Given the description of an element on the screen output the (x, y) to click on. 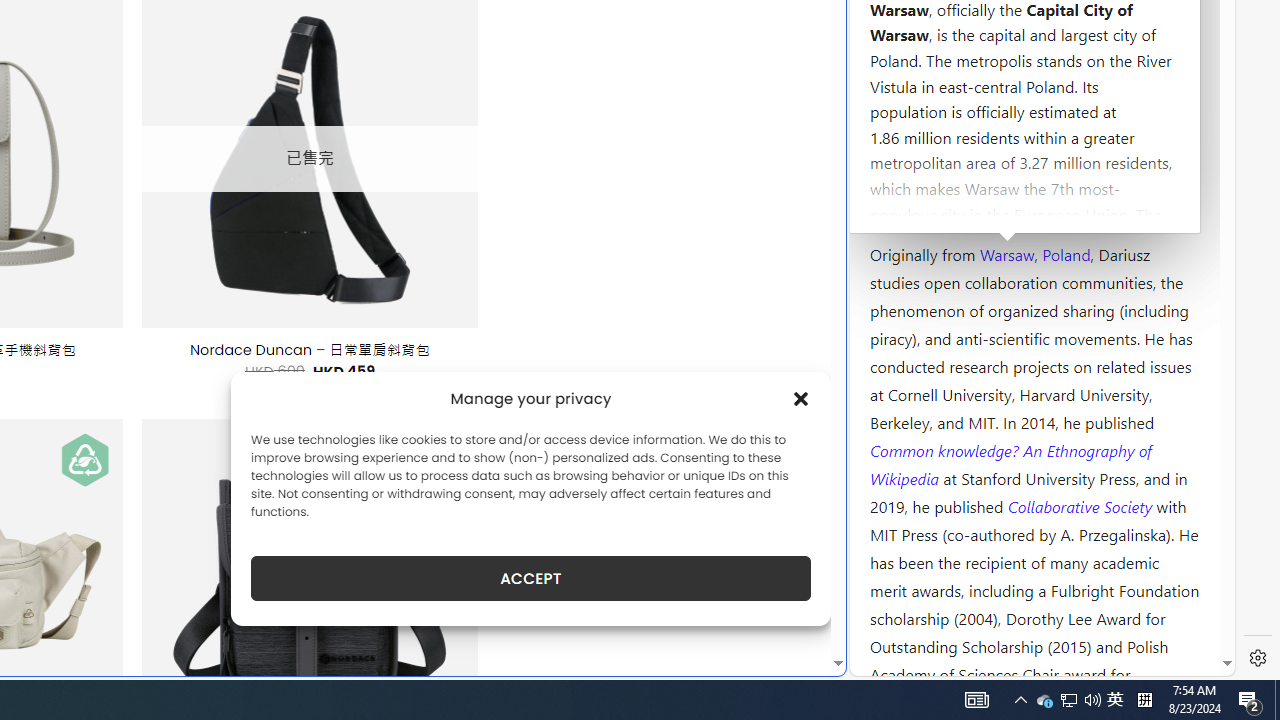
google_privacy_policy_zh-CN.pdf (687, 482)
Collaborative Society  (1082, 505)
ACCEPT (530, 578)
Poland (1065, 253)
Kozminski University (1034, 136)
MSN (687, 223)
Harvard University (934, 205)
Global web icon (888, 663)
Actions for this site (1129, 306)
